Given the description of an element on the screen output the (x, y) to click on. 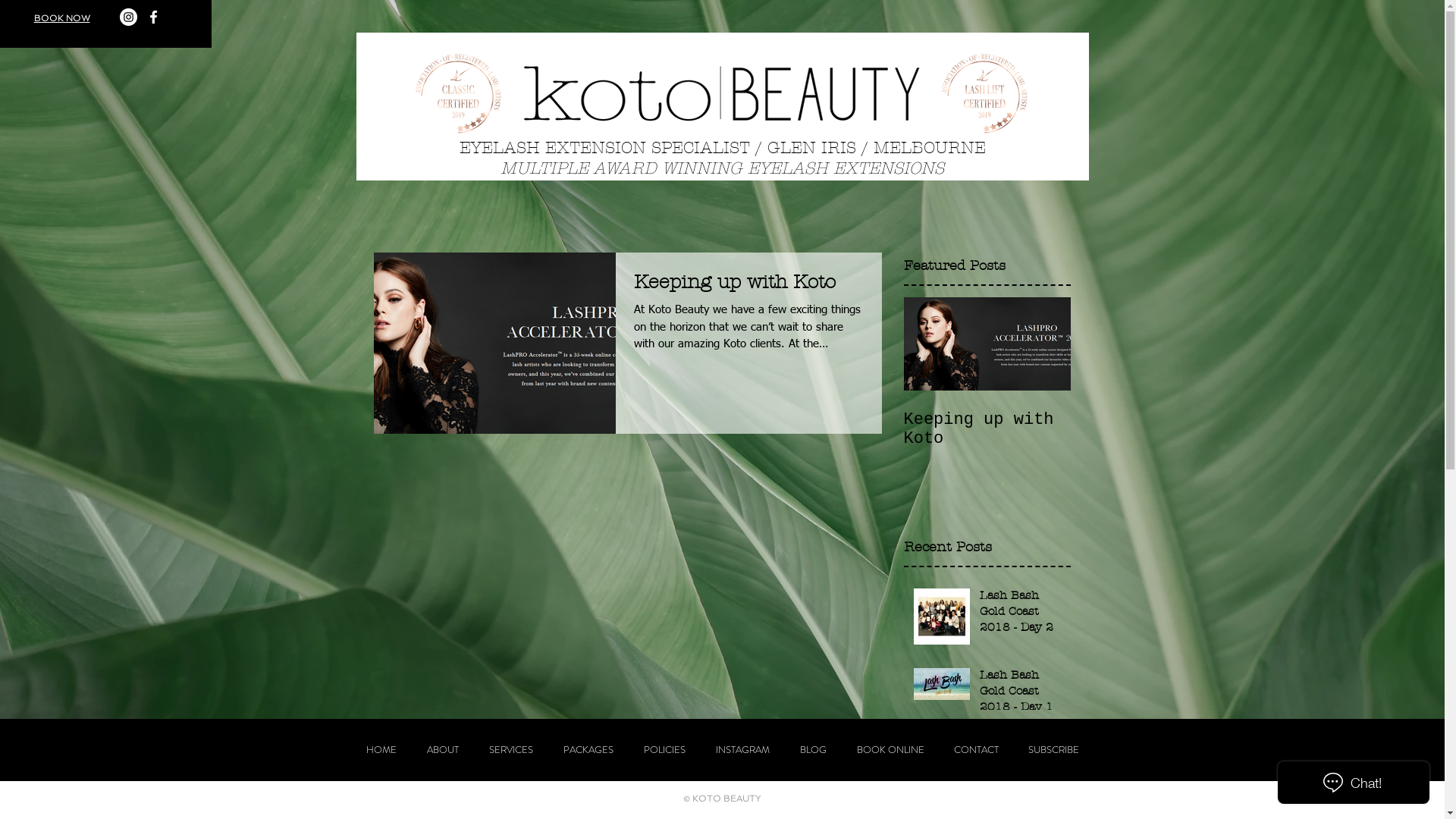
INSTAGRAM Element type: text (742, 749)
Keeping up with Koto Element type: text (986, 429)
Lash Bash Gold Coast 2018 - Day 2 Element type: text (1020, 614)
Lash Bash Gold Coast 2018 - Day 1 Element type: text (1020, 694)
PACKAGES Element type: text (587, 749)
POLICIES Element type: text (663, 749)
BLOG Element type: text (812, 749)
CONTACT Element type: text (975, 749)
47683490_2237065376317145_44320505531654 Element type: hover (983, 93)
BOOK NOW Element type: text (61, 17)
Keeping up with Koto Element type: text (1020, 796)
47386188_784470305222700_842897523797393 Element type: hover (457, 93)
BOOK ONLINE Element type: text (890, 749)
ABOUT Element type: text (442, 749)
Keeping up with Koto Element type: text (748, 285)
HOME Element type: text (380, 749)
SUBSCRIBE Element type: text (1053, 749)
SERVICES Element type: text (510, 749)
FEAR NOT! Element type: text (1020, 733)
